Given the description of an element on the screen output the (x, y) to click on. 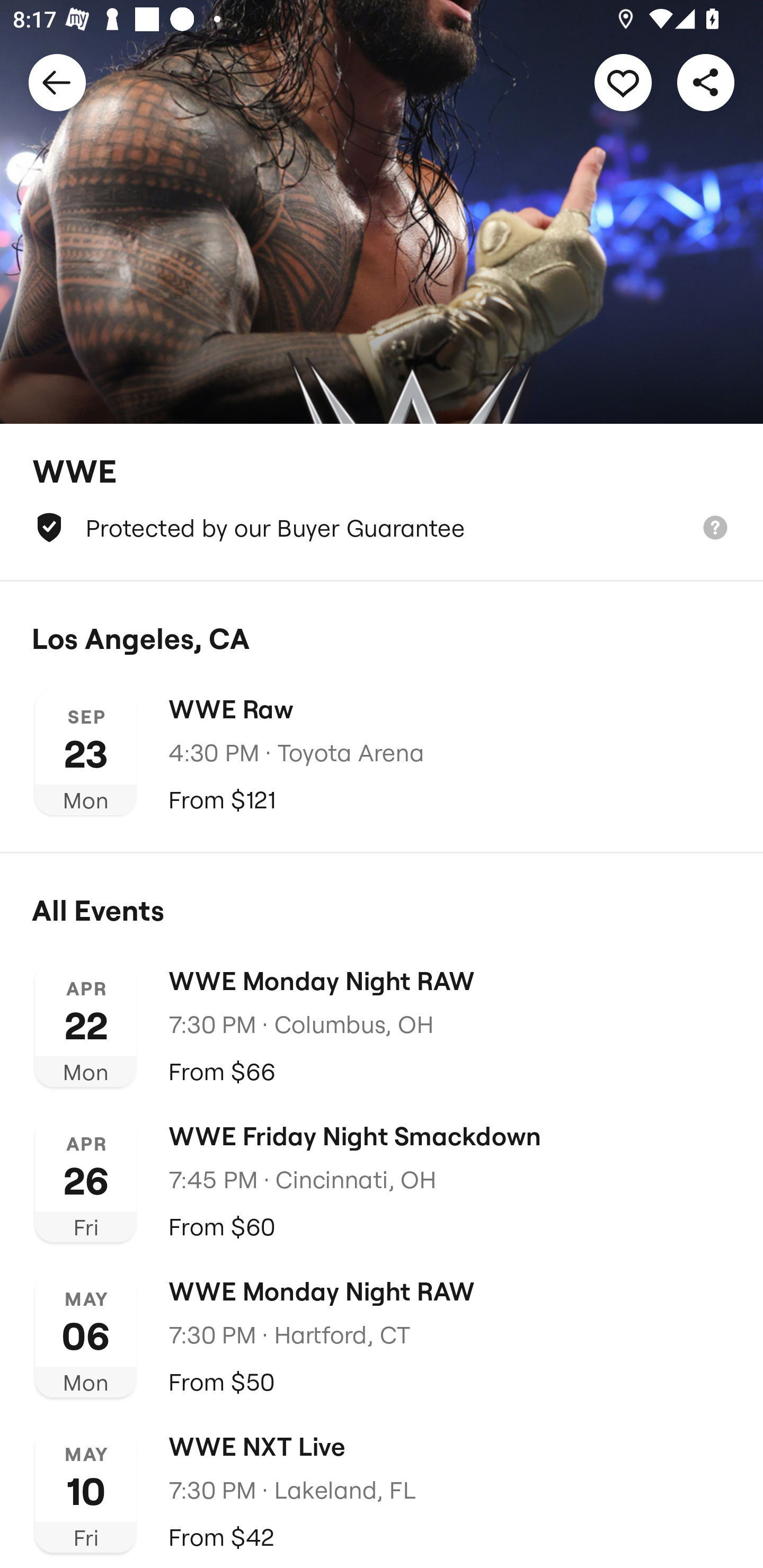
Back (57, 81)
Track this performer (623, 81)
Share this performer (705, 81)
Protected by our Buyer Guarantee Learn more (381, 527)
